Given the description of an element on the screen output the (x, y) to click on. 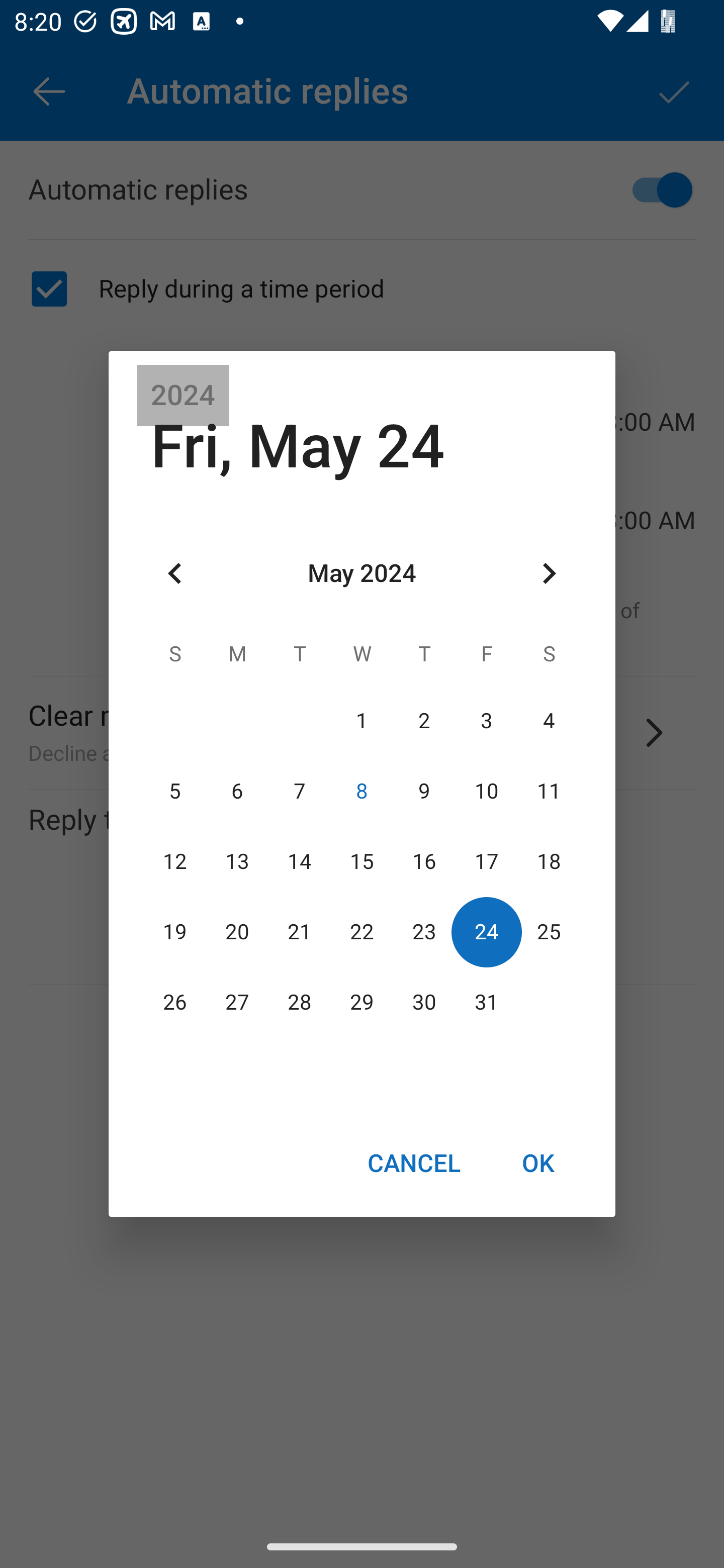
2024 (182, 395)
Fri, May 24 (297, 446)
Previous month (174, 573)
Next month (548, 573)
1 01 May 2024 (361, 720)
2 02 May 2024 (424, 720)
3 03 May 2024 (486, 720)
4 04 May 2024 (548, 720)
5 05 May 2024 (175, 790)
6 06 May 2024 (237, 790)
7 07 May 2024 (299, 790)
8 08 May 2024 (361, 790)
9 09 May 2024 (424, 790)
10 10 May 2024 (486, 790)
11 11 May 2024 (548, 790)
12 12 May 2024 (175, 861)
13 13 May 2024 (237, 861)
14 14 May 2024 (299, 861)
15 15 May 2024 (361, 861)
16 16 May 2024 (424, 861)
17 17 May 2024 (486, 861)
18 18 May 2024 (548, 861)
19 19 May 2024 (175, 931)
20 20 May 2024 (237, 931)
21 21 May 2024 (299, 931)
22 22 May 2024 (361, 931)
23 23 May 2024 (424, 931)
24 24 May 2024 (486, 931)
25 25 May 2024 (548, 931)
26 26 May 2024 (175, 1002)
27 27 May 2024 (237, 1002)
28 28 May 2024 (299, 1002)
29 29 May 2024 (361, 1002)
30 30 May 2024 (424, 1002)
31 31 May 2024 (486, 1002)
CANCEL (413, 1162)
OK (537, 1162)
